Given the description of an element on the screen output the (x, y) to click on. 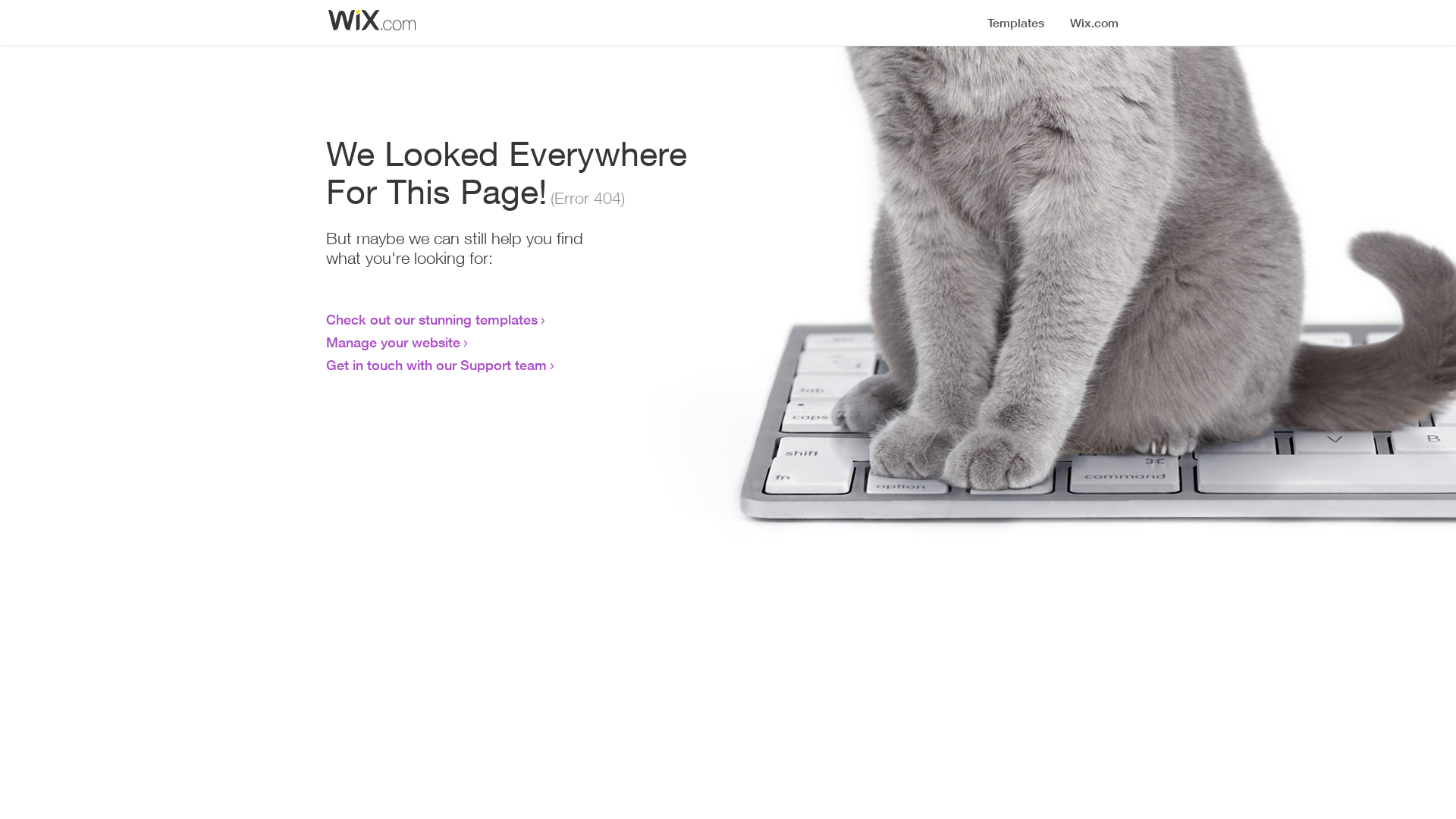
Manage your website Element type: text (393, 341)
Check out our stunning templates Element type: text (431, 318)
Get in touch with our Support team Element type: text (436, 364)
